Given the description of an element on the screen output the (x, y) to click on. 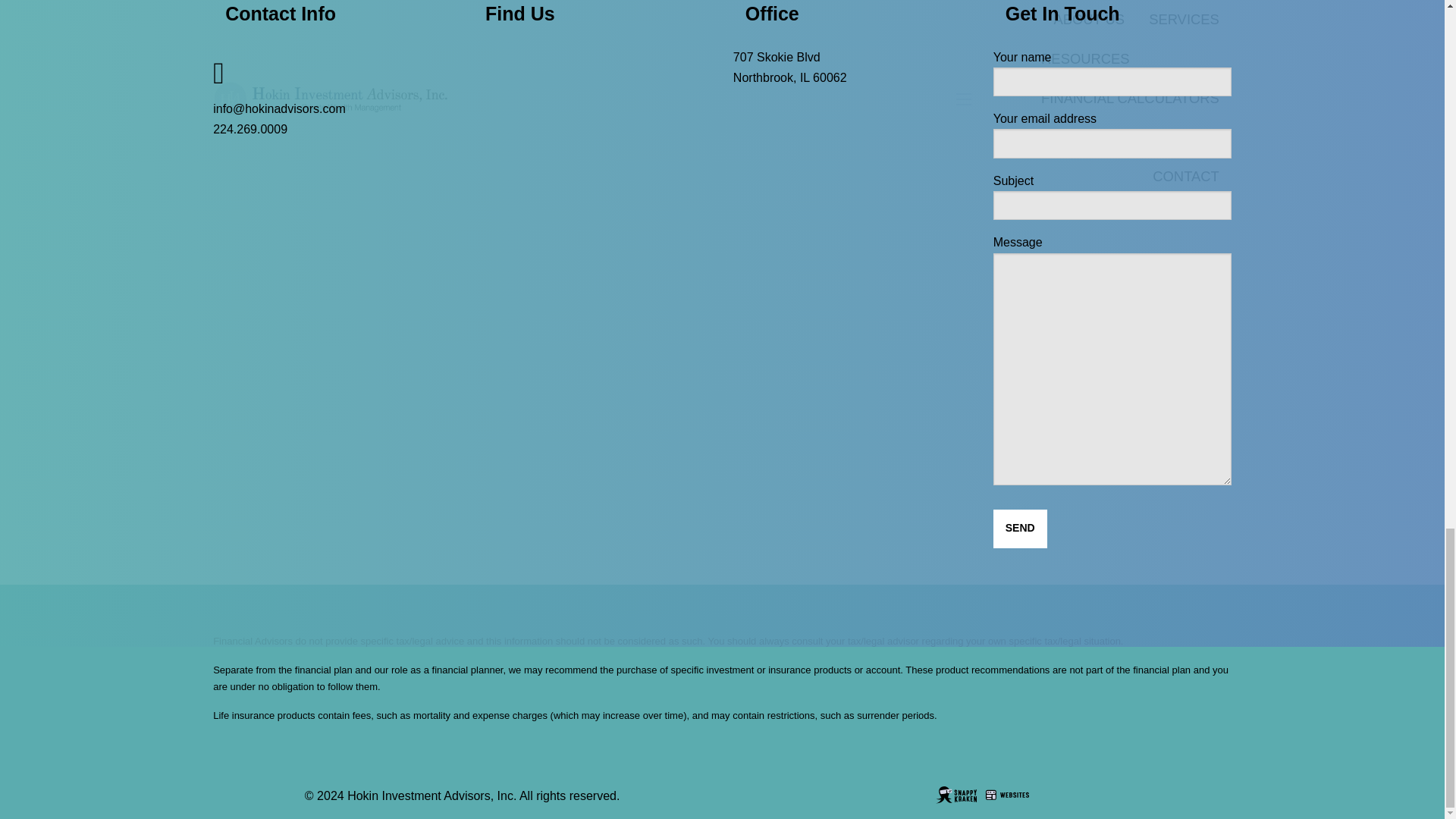
Send (1019, 528)
224.269.0009 (249, 128)
Send (1019, 528)
